Given the description of an element on the screen output the (x, y) to click on. 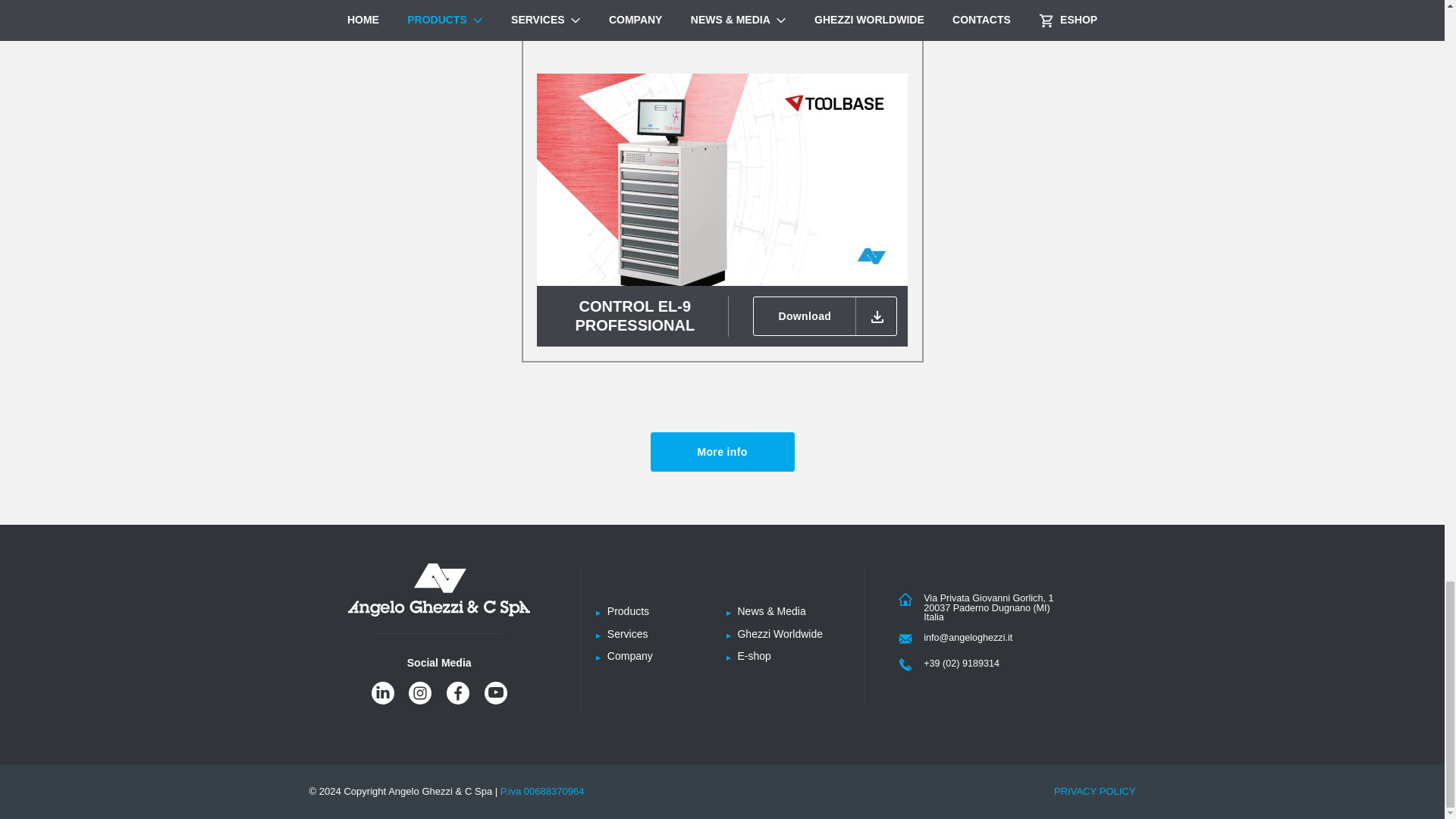
Phone (909, 666)
Email (909, 640)
Address (909, 601)
Privacy Policy  (1094, 790)
